Given the description of an element on the screen output the (x, y) to click on. 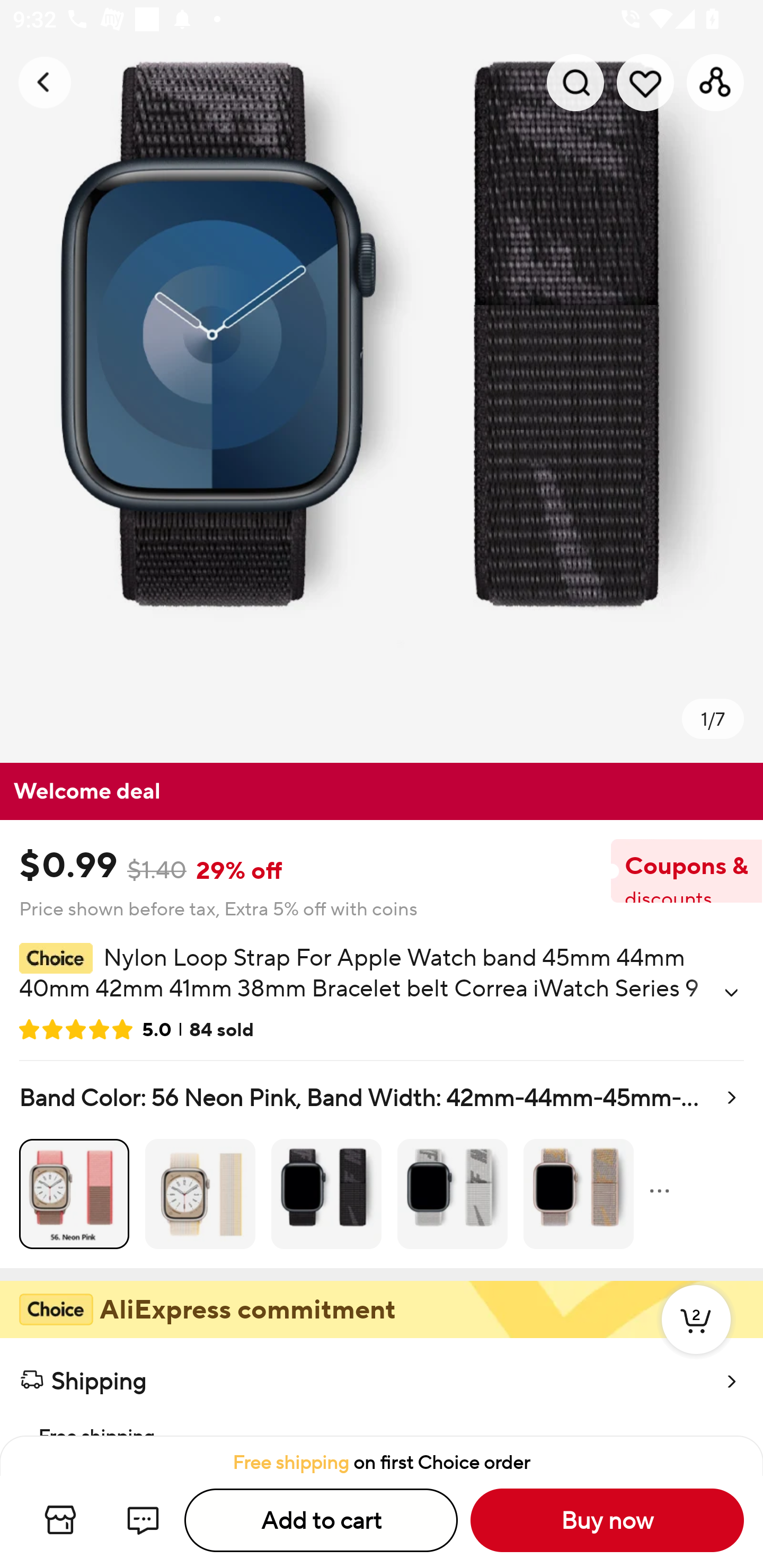
Navigate up (44, 82)
 (730, 992)
2 (695, 1338)
Shipping  Free shipping  (381, 1386)
Add to cart (320, 1520)
Buy now (606, 1520)
